Given the description of an element on the screen output the (x, y) to click on. 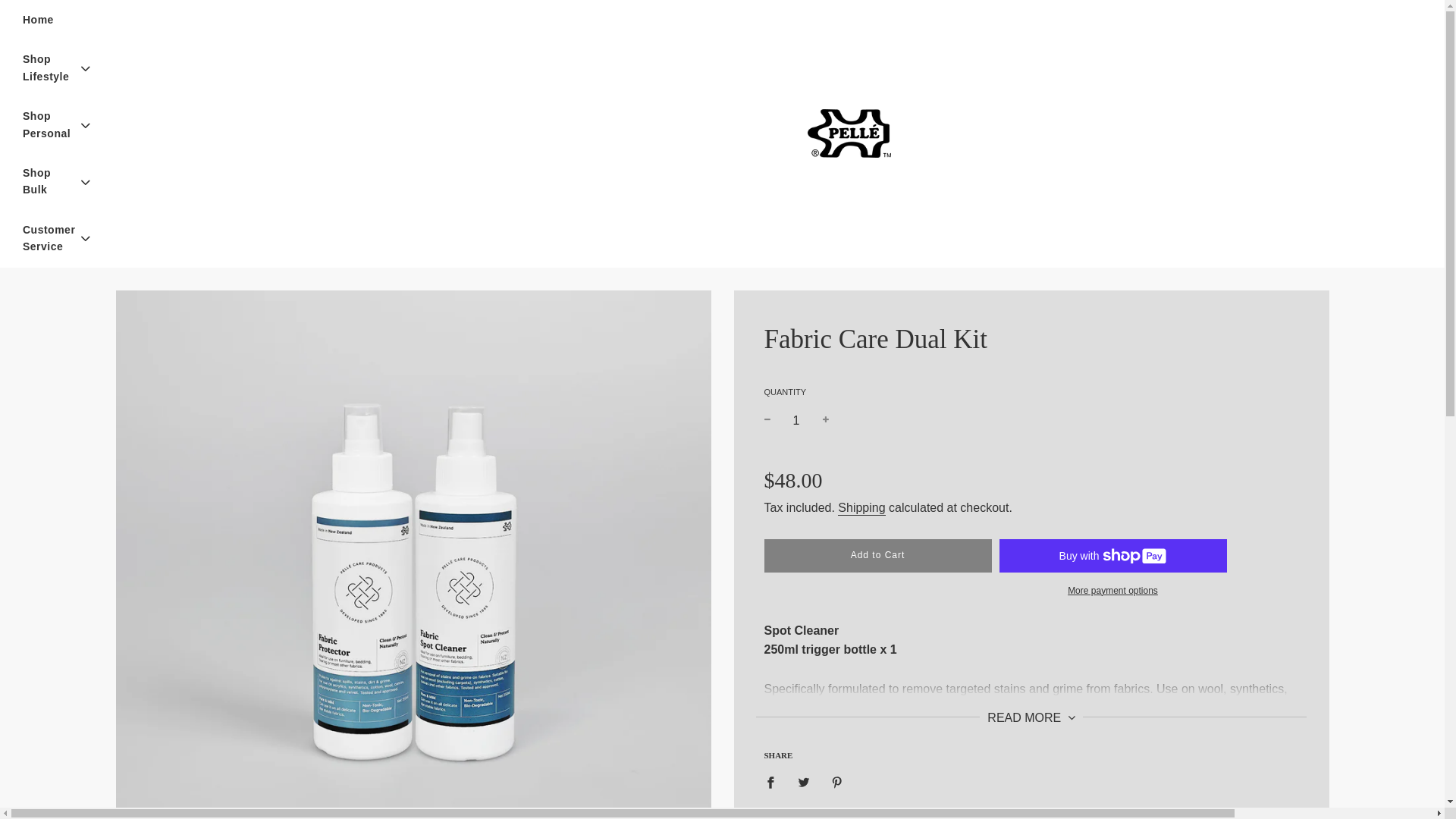
1 (796, 420)
